Given the description of an element on the screen output the (x, y) to click on. 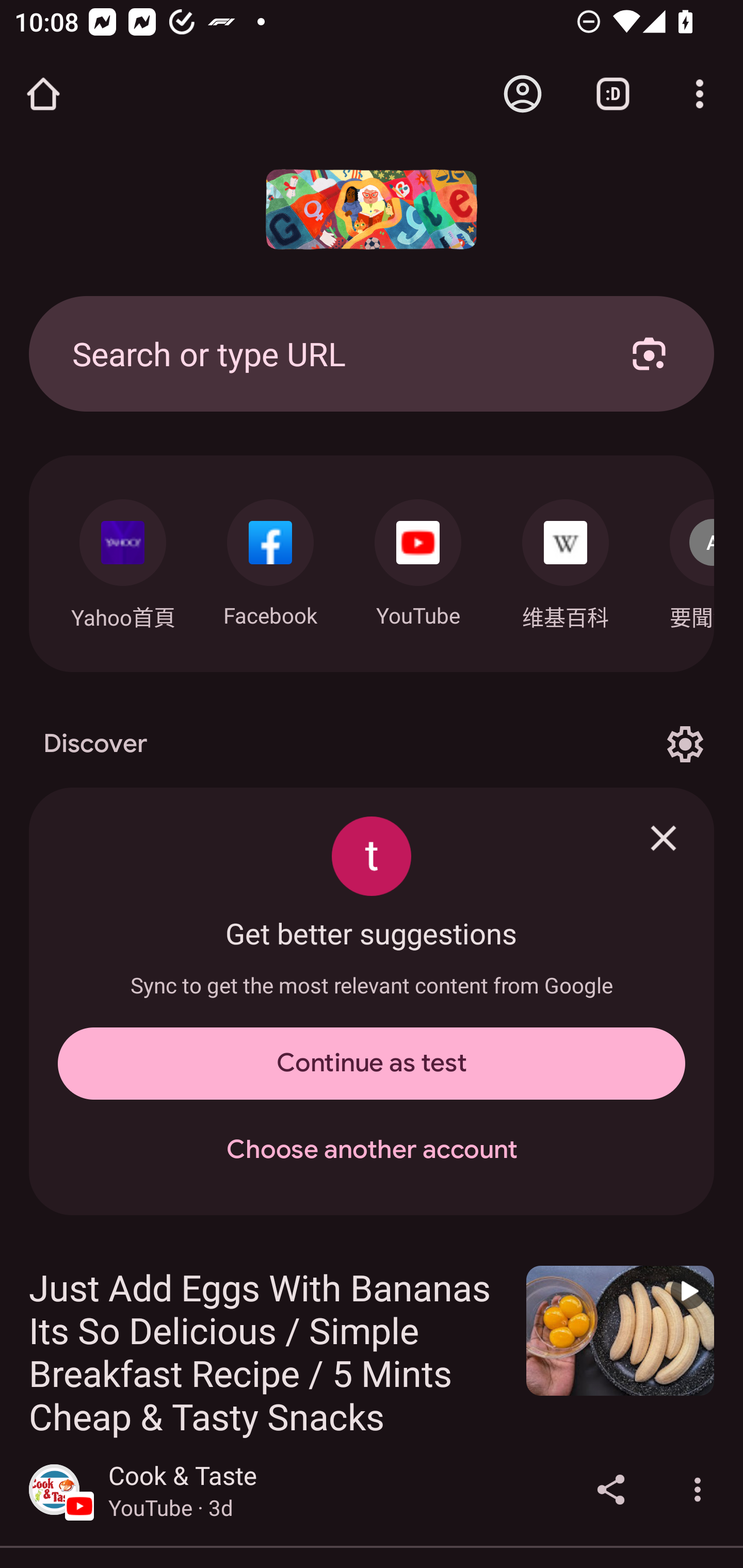
Open the home page (43, 93)
Switch or close tabs (612, 93)
Customize and control Google Chrome (699, 93)
Google doodle: 2024 年國際婦女節 (371, 209)
Search or type URL (327, 353)
Search with your camera using Google Lens (648, 353)
Navigate: Yahoo首頁: hk.mobi.yahoo.com Yahoo首頁 (122, 558)
Navigate: Facebook: m.facebook.com Facebook (270, 558)
Navigate: YouTube: m.youtube.com YouTube (417, 558)
Navigate: 维基百科: zh.m.wikipedia.org 维基百科 (565, 558)
Options for Discover (684, 743)
Close (663, 837)
Continue as test (371, 1063)
Choose another account (371, 1150)
